Given the description of an element on the screen output the (x, y) to click on. 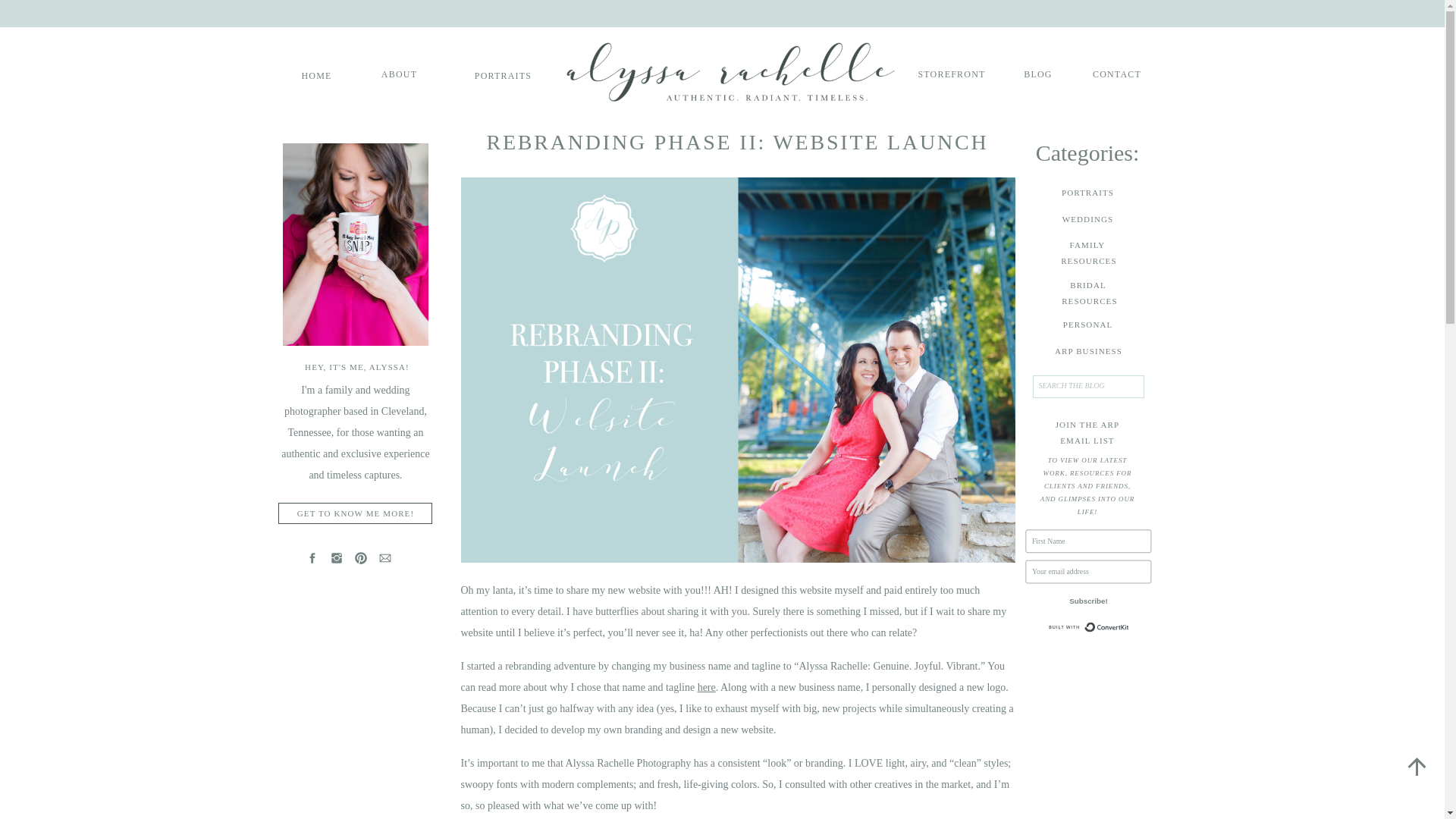
HOME (316, 74)
smile emoticon (925, 632)
Subscribe! (1121, 605)
CONTACT (1087, 292)
PORTRAITS (1117, 73)
Built with ConvertKit (1088, 192)
PORTRAITS (1109, 632)
GET TO KNOW ME MORE! (502, 74)
ABOUT (355, 513)
here (399, 73)
PERSONAL (706, 686)
BLOG (1088, 324)
STOREFRONT (1038, 73)
WEDDINGS (951, 73)
